Given the description of an element on the screen output the (x, y) to click on. 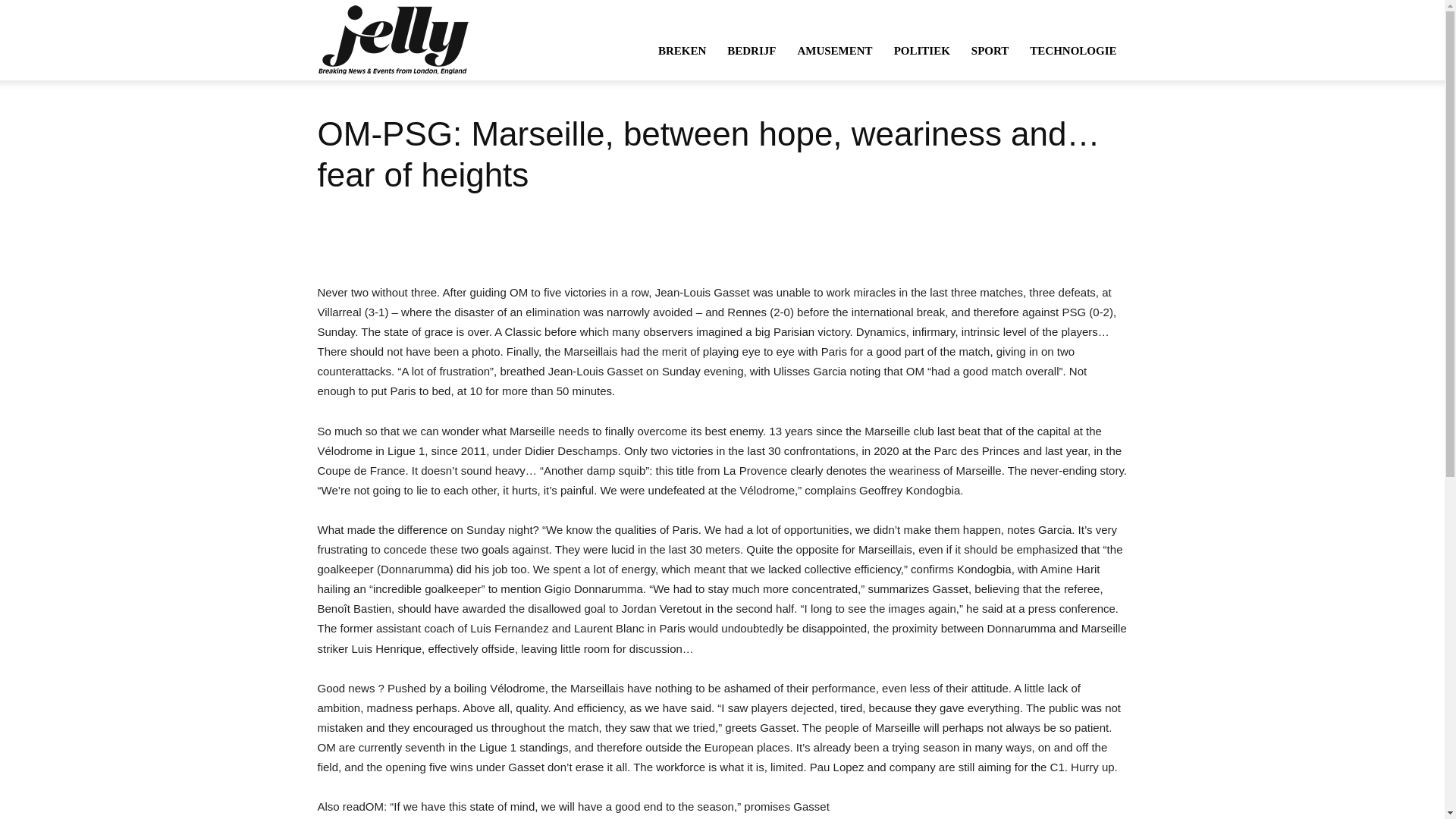
AMUSEMENT (834, 50)
BREKEN (681, 50)
Jelly Nieuws (392, 39)
SPORT (989, 50)
POLITIEK (921, 50)
TECHNOLOGIE (1072, 50)
BEDRIJF (751, 50)
